Given the description of an element on the screen output the (x, y) to click on. 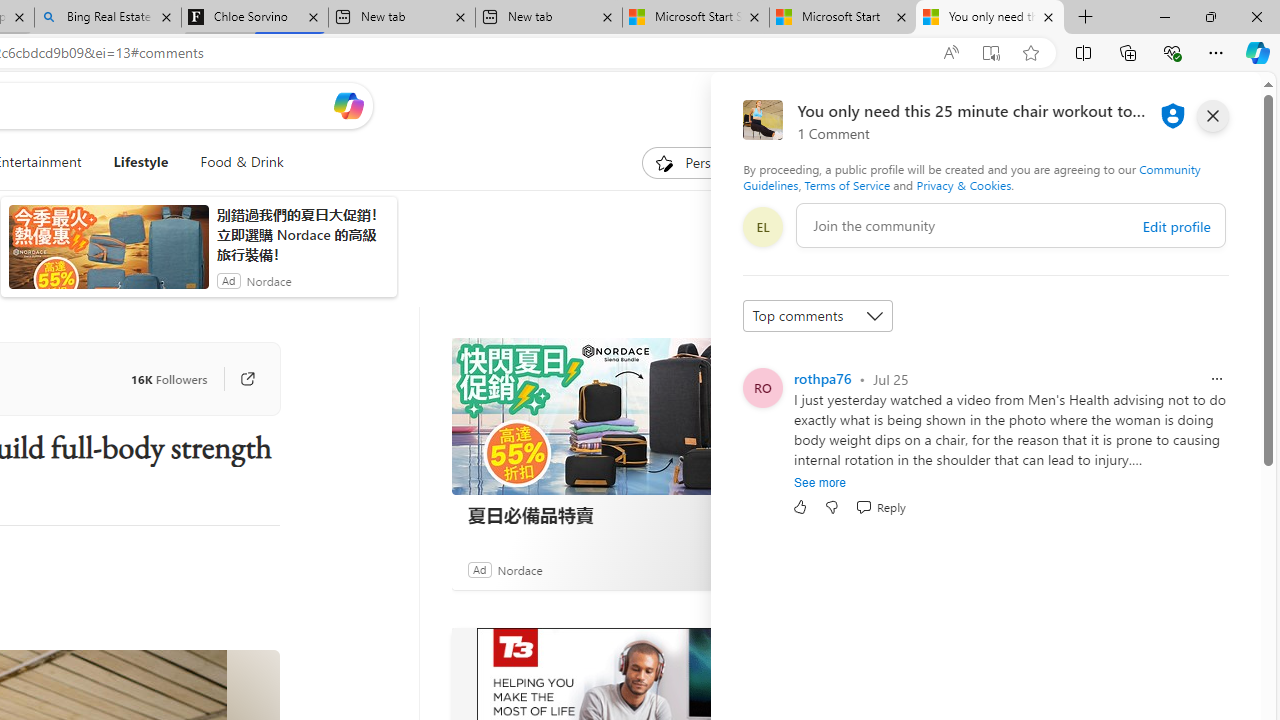
anim-content (107, 255)
Go to publisher's site (237, 378)
Sort comments by (817, 315)
Profile Picture (762, 387)
To get missing image descriptions, open the context menu. (664, 162)
Report comment (1216, 378)
Notifications (1176, 105)
